Given the description of an element on the screen output the (x, y) to click on. 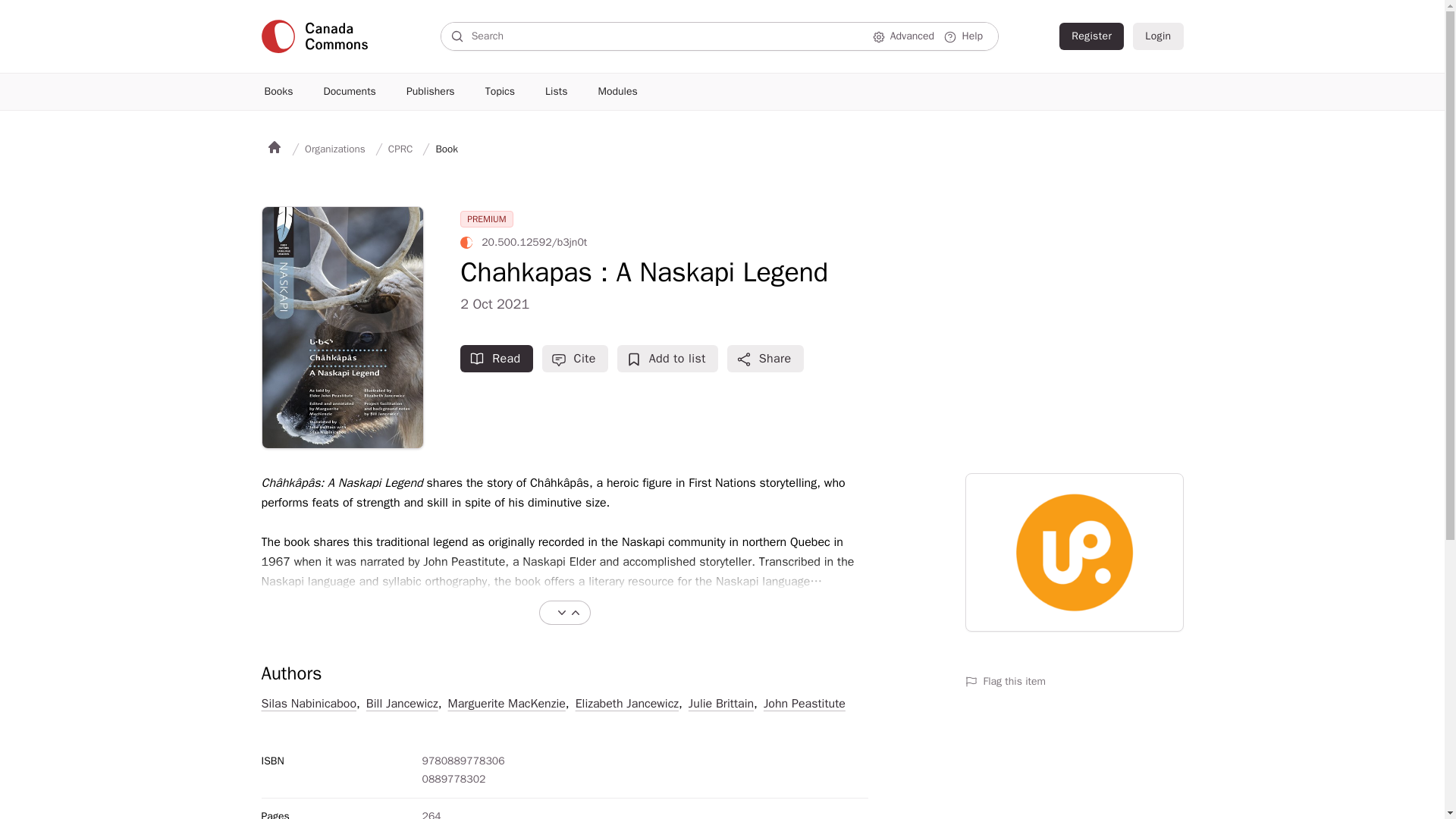
Topics (500, 91)
Help (964, 36)
Organizations (334, 149)
Bill Jancewicz, (404, 703)
Cite (574, 358)
Share (764, 358)
Flag this item (1072, 681)
Read (496, 358)
Login (1157, 35)
CPRC (400, 149)
Documents (349, 91)
Lists (555, 91)
Silas Nabinicaboo, (309, 703)
Elizabeth Jancewicz, (628, 703)
John Peastitute (803, 703)
